Given the description of an element on the screen output the (x, y) to click on. 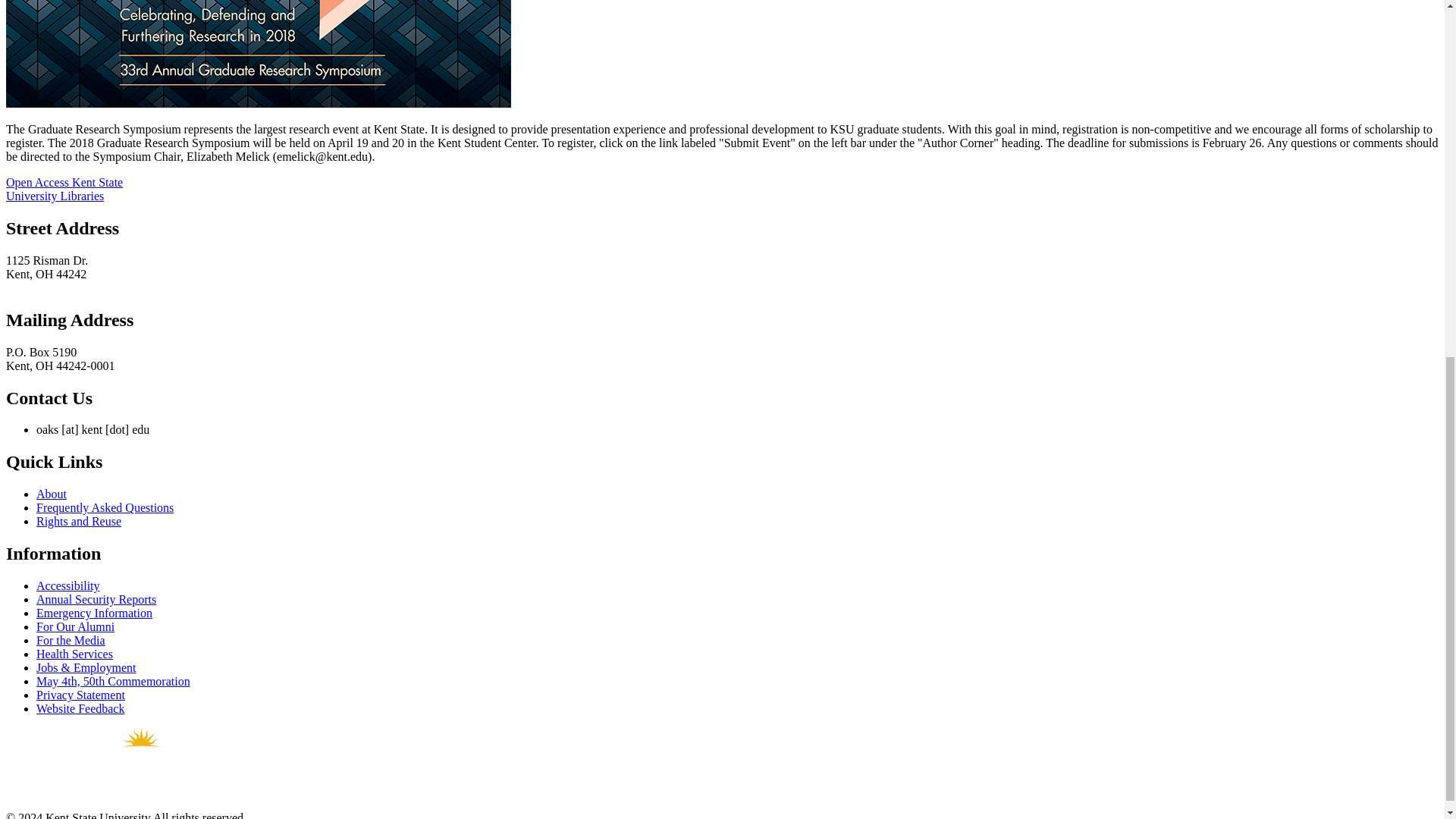
Rights and Reuse (78, 521)
May 4th, 50th Commemoration (113, 680)
Open Access Kent State (63, 182)
Annual Security Reports (95, 599)
Frequently Asked Questions (104, 507)
Emergency Information (94, 612)
Health Services (74, 653)
Website Feedback (79, 707)
About (51, 493)
Kent State University (143, 768)
For the Media (70, 640)
Privacy Statement (80, 694)
For Our Alumni (75, 626)
University Libraries (54, 195)
Accessibility (68, 585)
